Given the description of an element on the screen output the (x, y) to click on. 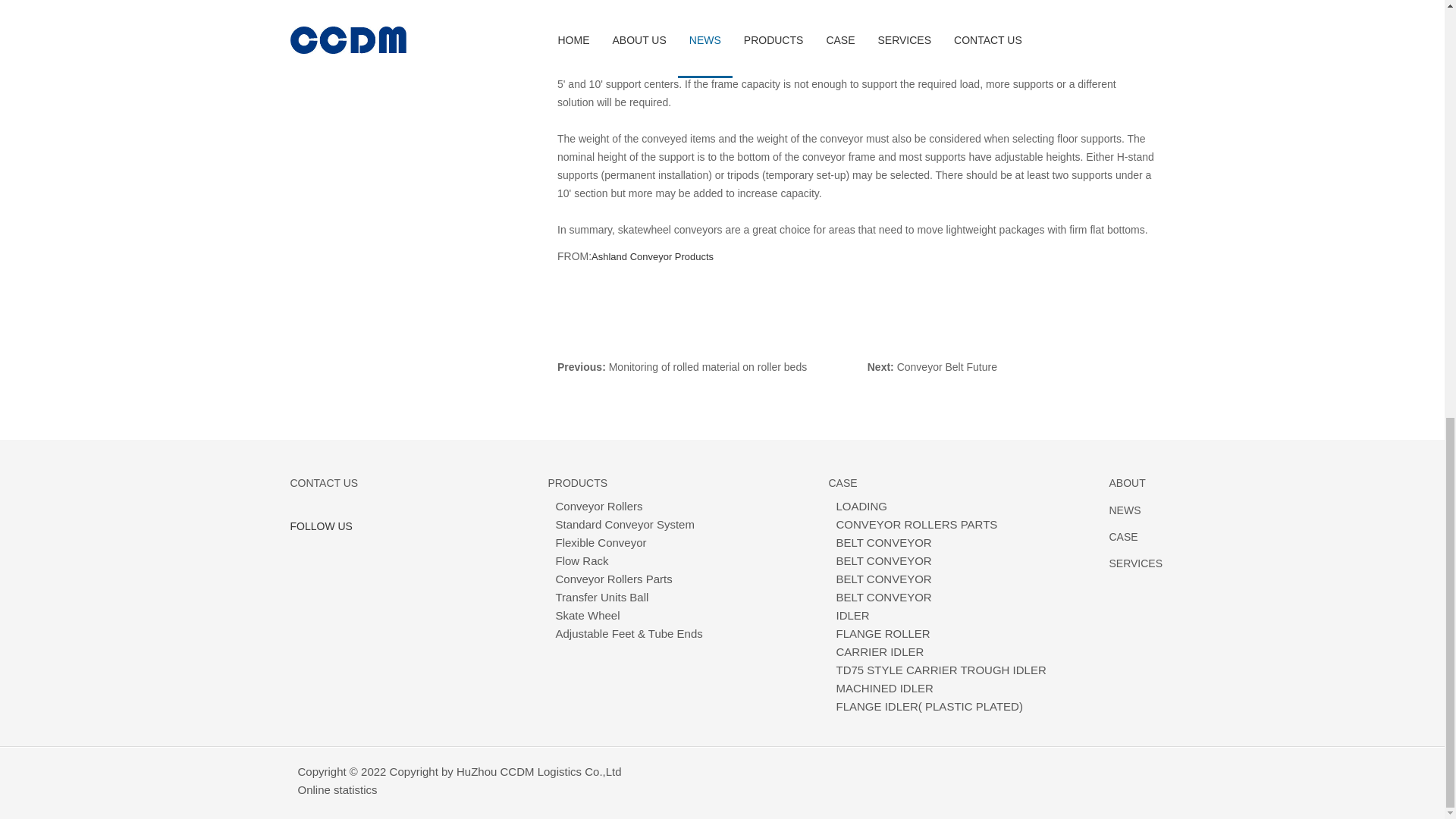
twitter (335, 552)
PRODUCTS (577, 482)
faceboook (298, 552)
Monitoring of rolled material on roller beds (707, 367)
linkedin (407, 552)
Conveyor Belt Future (946, 367)
pinterest (444, 552)
CONTACT US (323, 482)
instagram (371, 552)
